Given the description of an element on the screen output the (x, y) to click on. 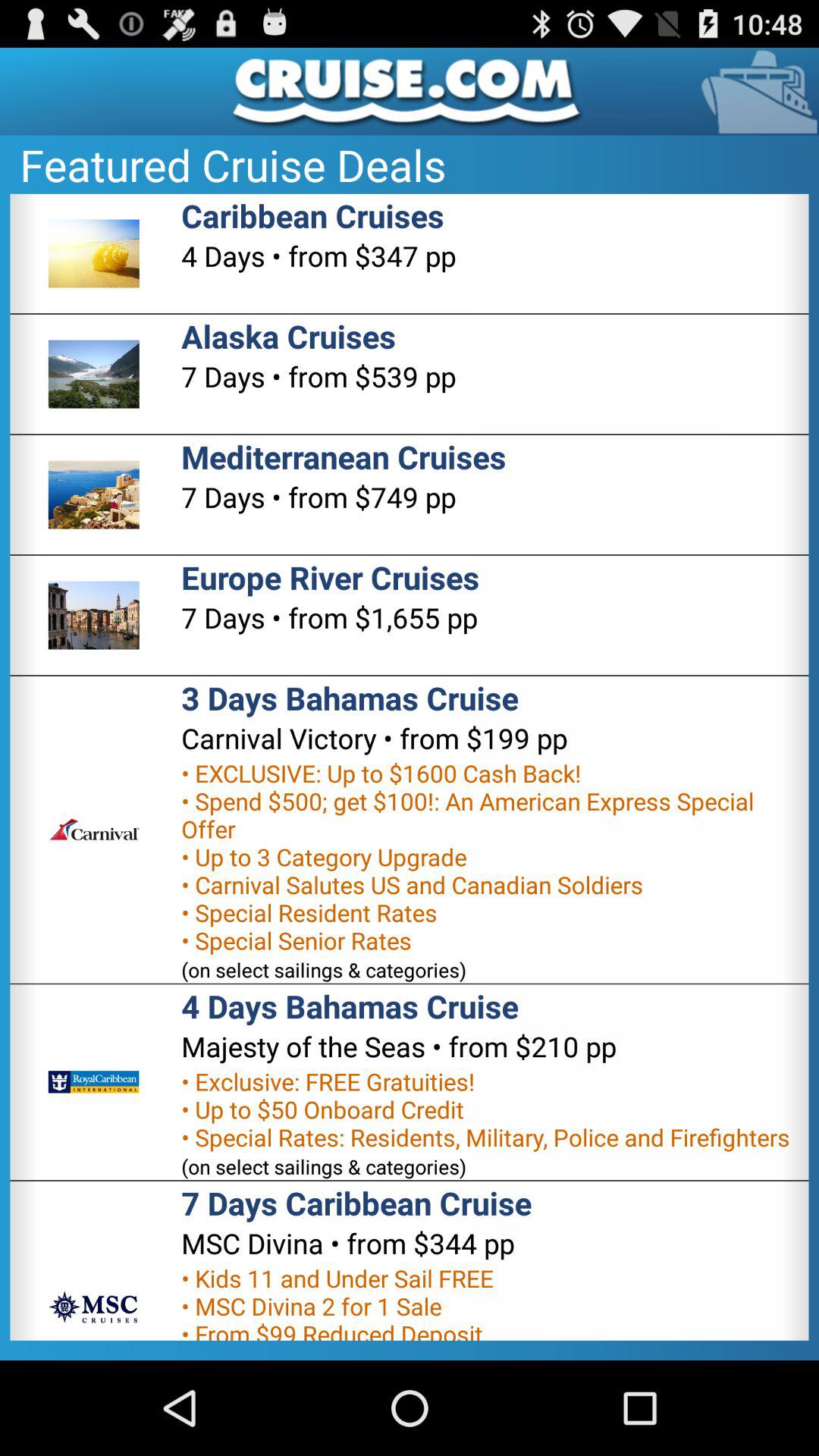
swipe to europe river cruises icon (330, 576)
